Given the description of an element on the screen output the (x, y) to click on. 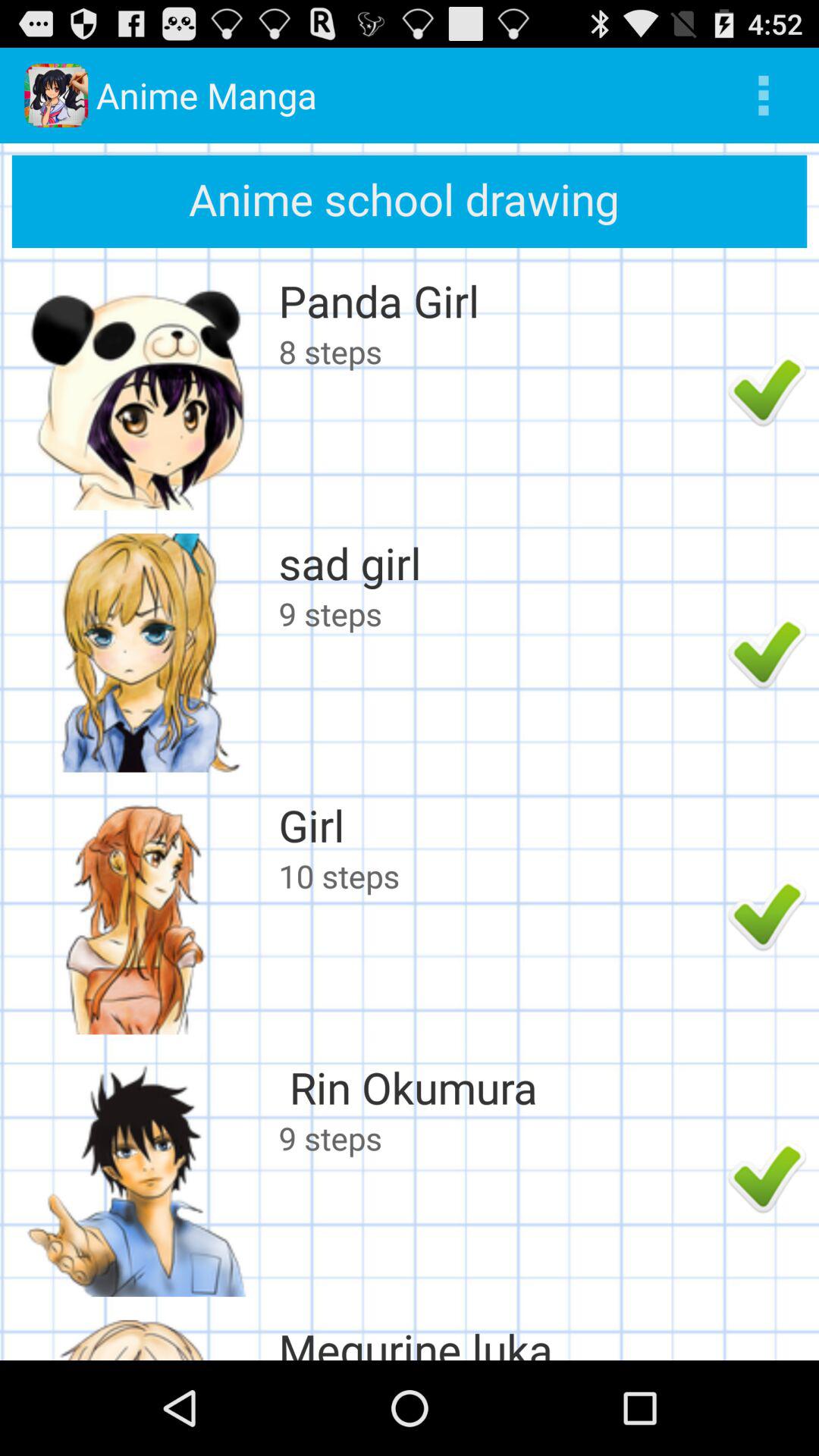
tap icon above 9 steps item (498, 562)
